Given the description of an element on the screen output the (x, y) to click on. 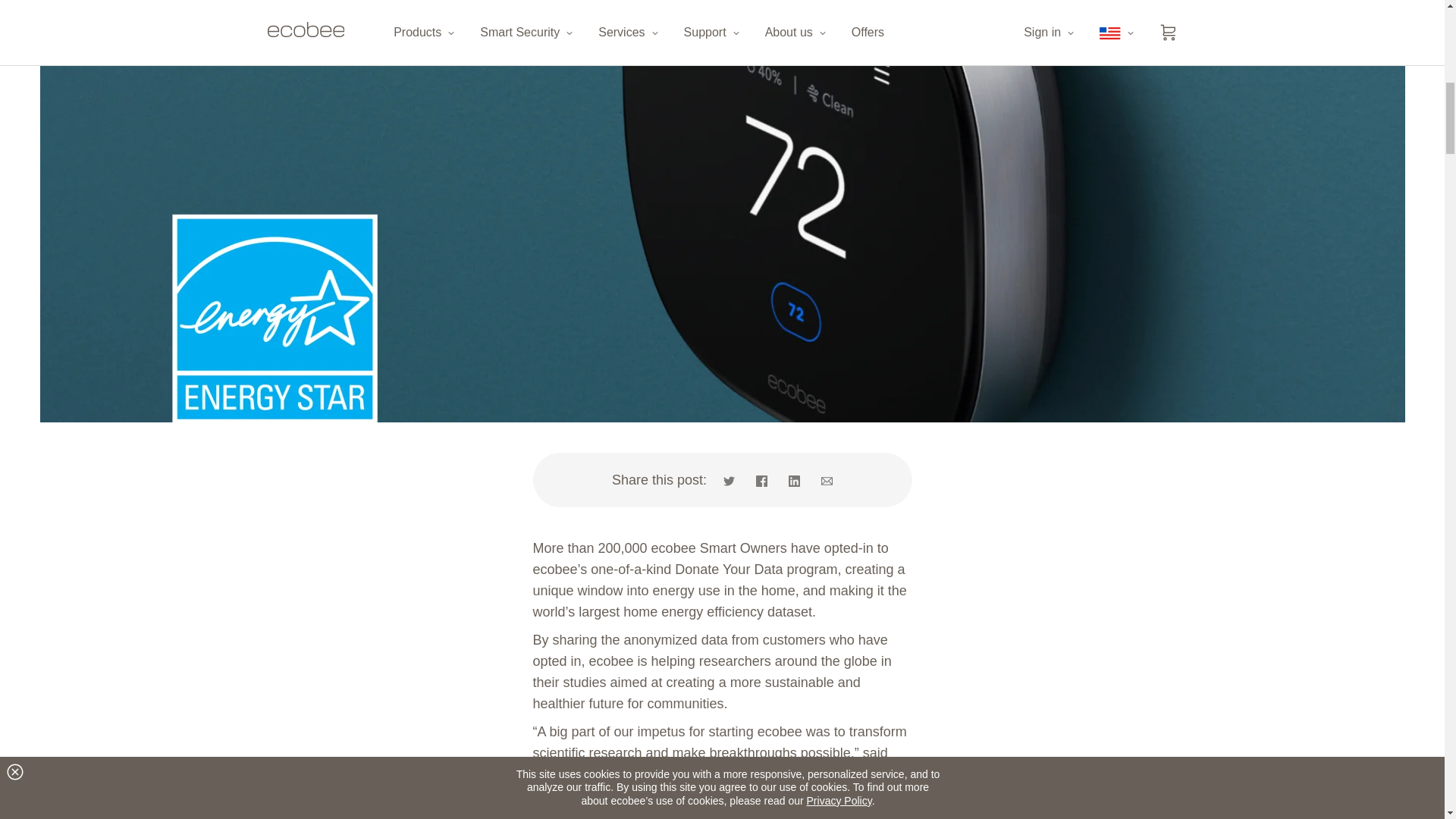
Share on LinkedIn (793, 479)
Share on Twitter (734, 479)
Share on Facebook (761, 479)
Share by email (821, 479)
